Given the description of an element on the screen output the (x, y) to click on. 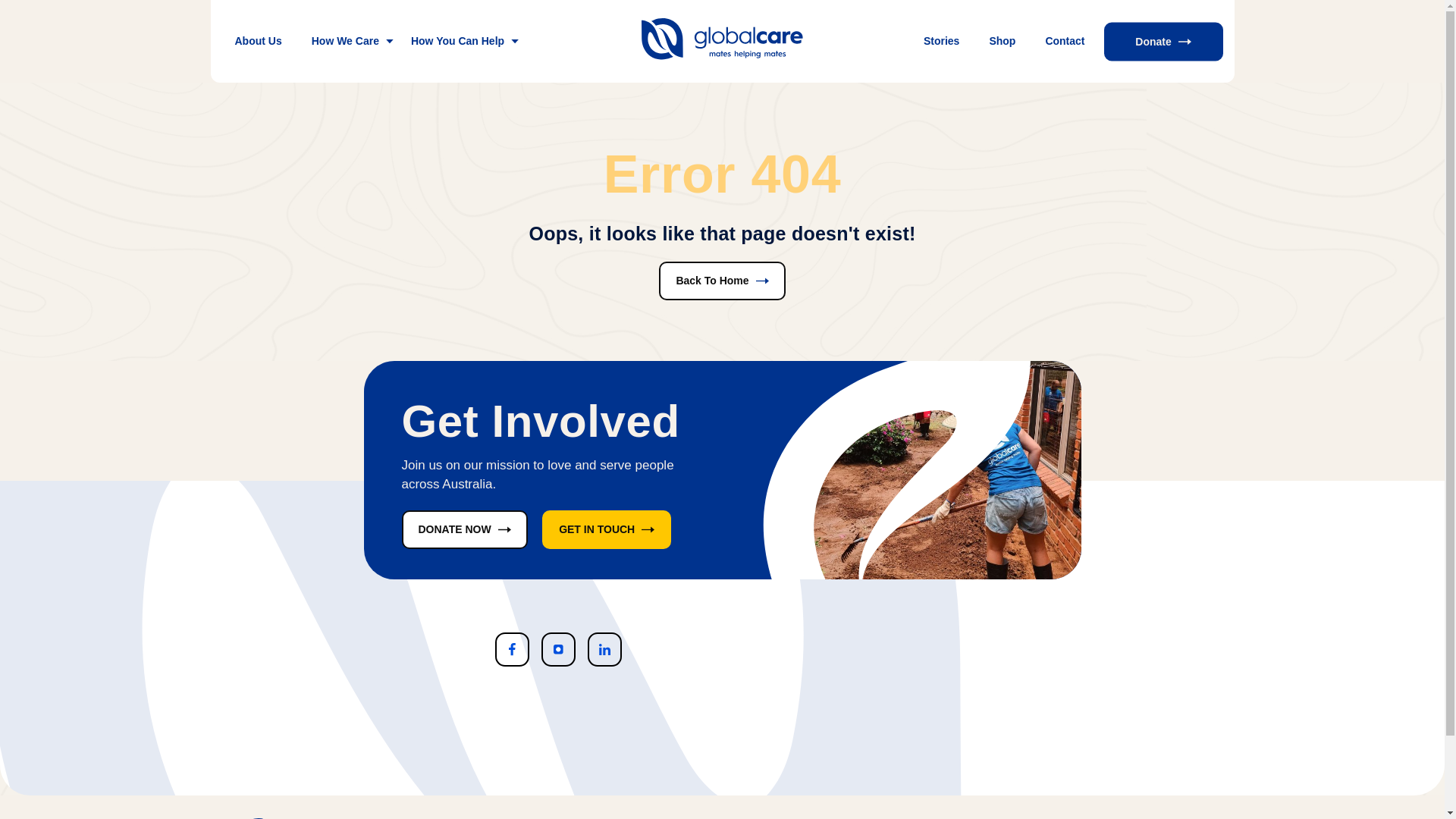
GET IN TOUCH Element type: text (606, 529)
Donate Element type: text (457, 83)
How We Care Element type: text (346, 41)
About Us Element type: text (258, 41)
Contact Element type: text (1064, 41)
Shop Element type: text (1001, 41)
Food Care Element type: text (376, 83)
DONATE NOW Element type: text (464, 529)
Stories Element type: text (941, 41)
How You Can Help Element type: text (458, 41)
Donate Element type: text (1163, 40)
Back To Home Element type: text (721, 280)
